Given the description of an element on the screen output the (x, y) to click on. 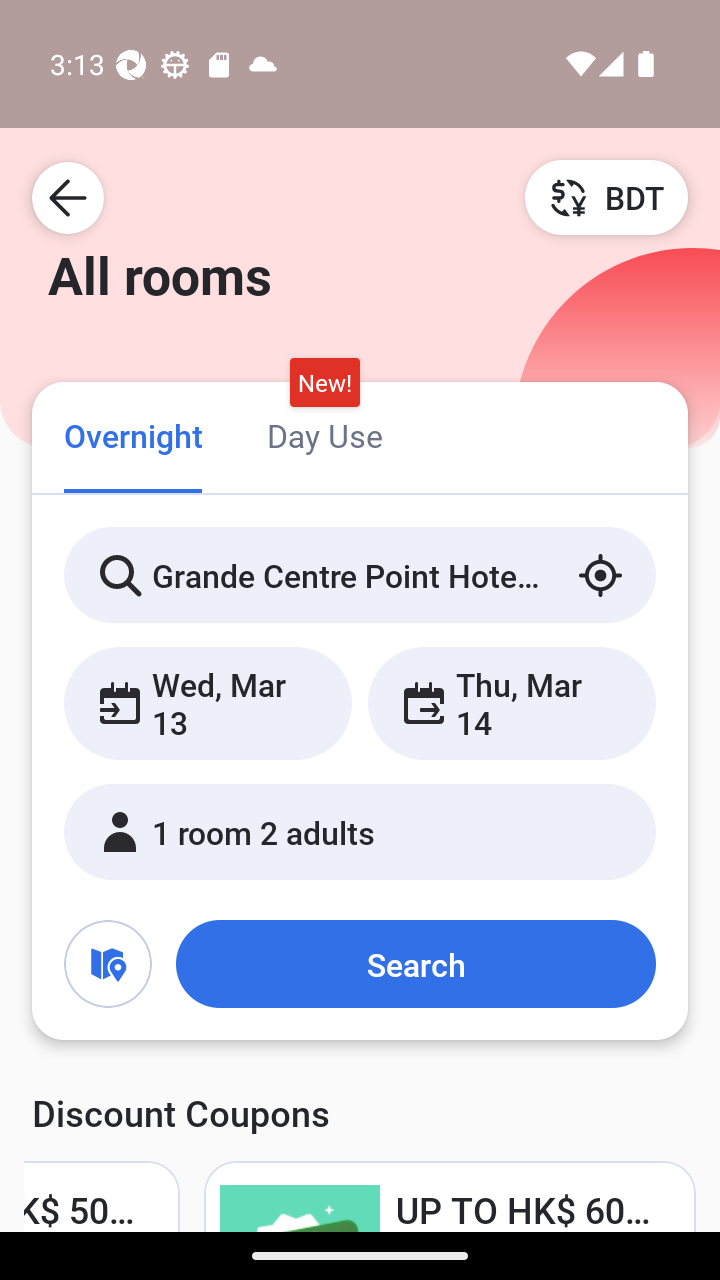
BDT (606, 197)
New! (324, 383)
Day Use (324, 434)
Grande Centre Point Hotel Ratchadamri (359, 575)
Wed, Mar 13 (208, 703)
Thu, Mar 14 (511, 703)
1 room 2 adults (359, 831)
Search (415, 964)
